Given the description of an element on the screen output the (x, y) to click on. 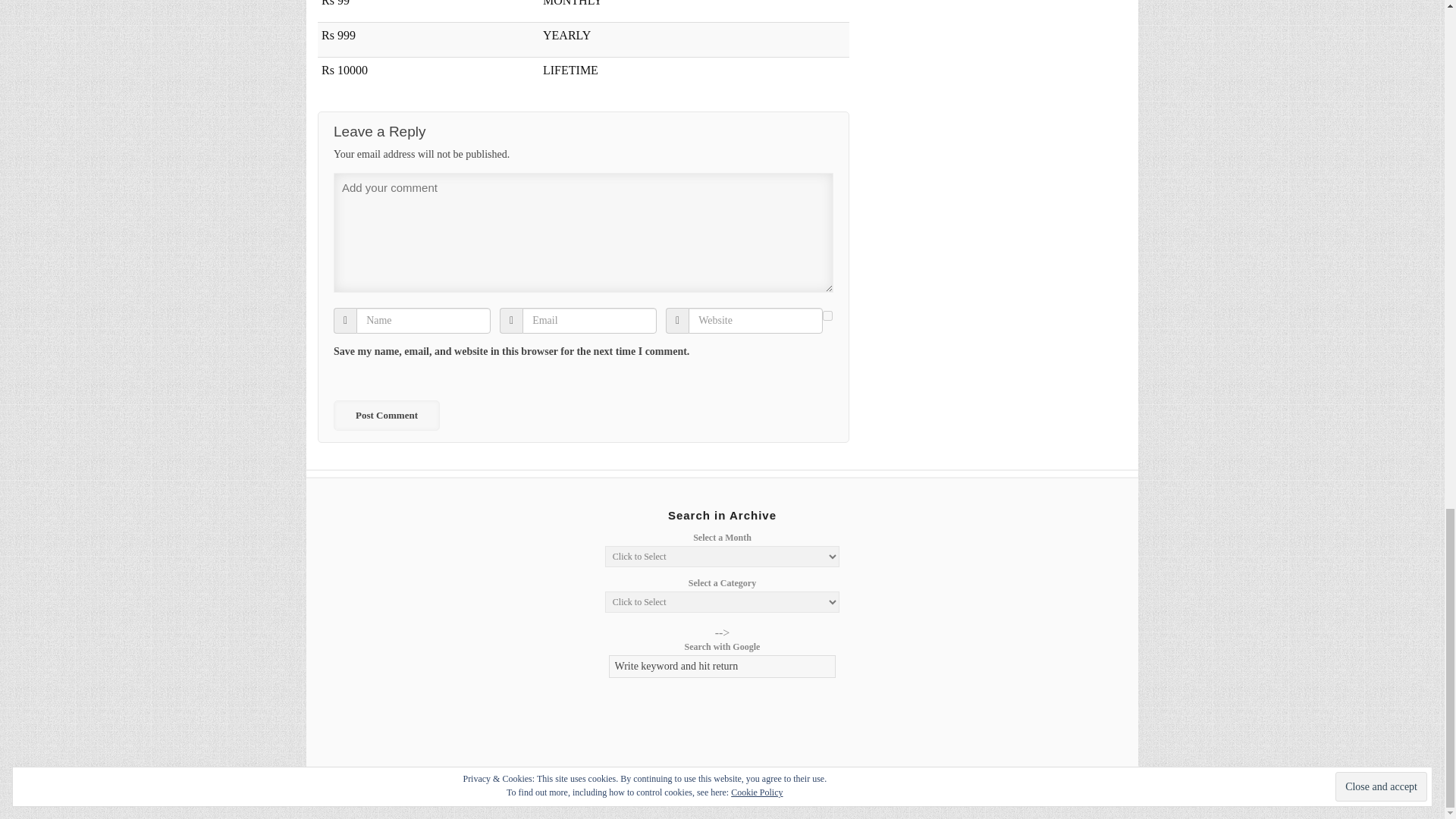
Kashmir Reader (381, 790)
Post Comment (386, 415)
Write keyword and hit return (721, 666)
Semantic Personal Publishing Platform (1017, 790)
yes (827, 316)
WordPress Newspaper Themes (1097, 790)
